Given the description of an element on the screen output the (x, y) to click on. 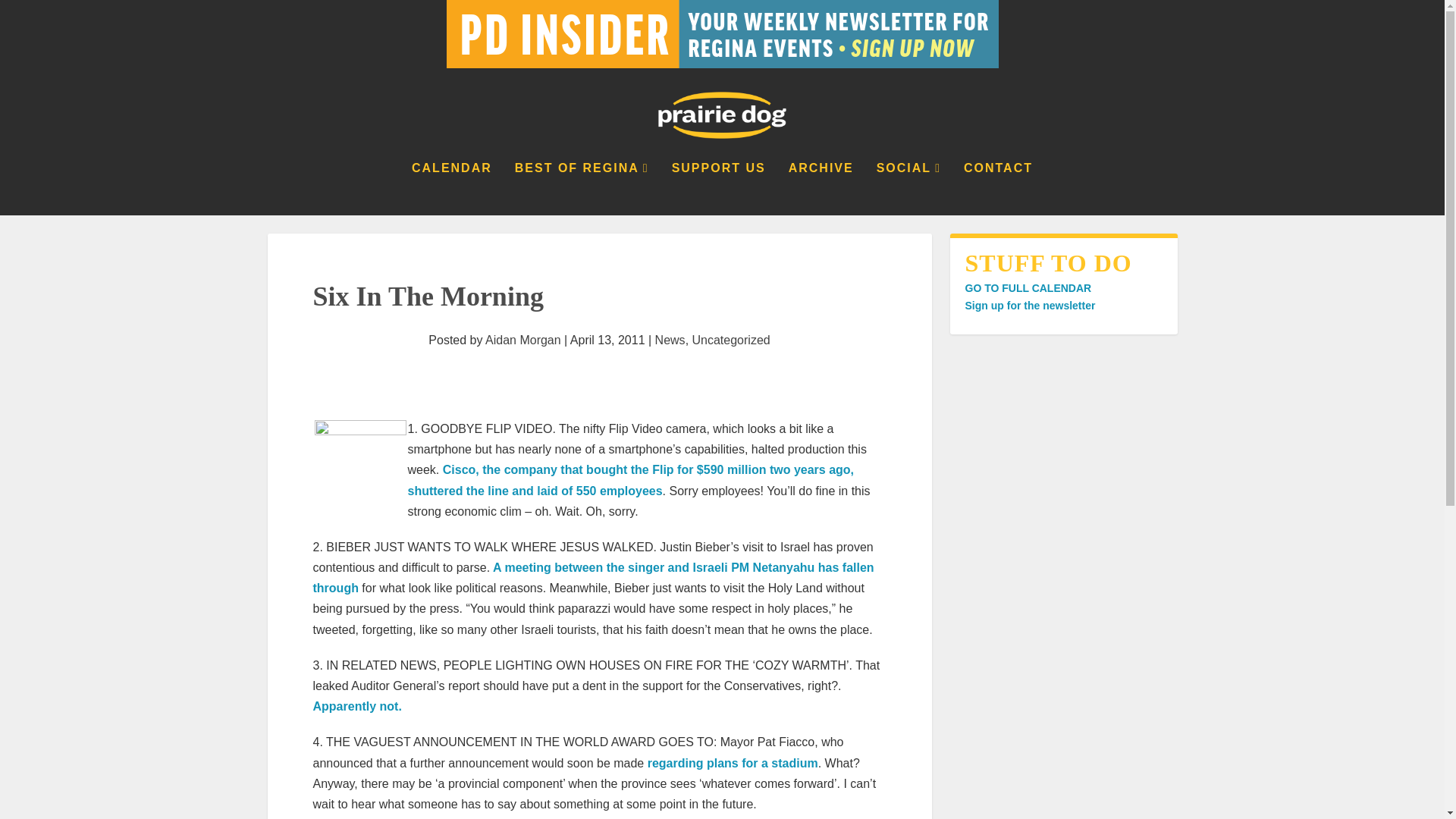
Uncategorized (731, 339)
News (670, 339)
Posts by Aidan Morgan (522, 339)
SUPPORT US (718, 188)
regarding plans for a stadium (732, 762)
6-in-the-morning3 (360, 465)
GO TO FULL CALENDAR (1026, 287)
Apparently not. (357, 706)
ARCHIVE (821, 188)
BEST OF REGINA (582, 188)
